Given the description of an element on the screen output the (x, y) to click on. 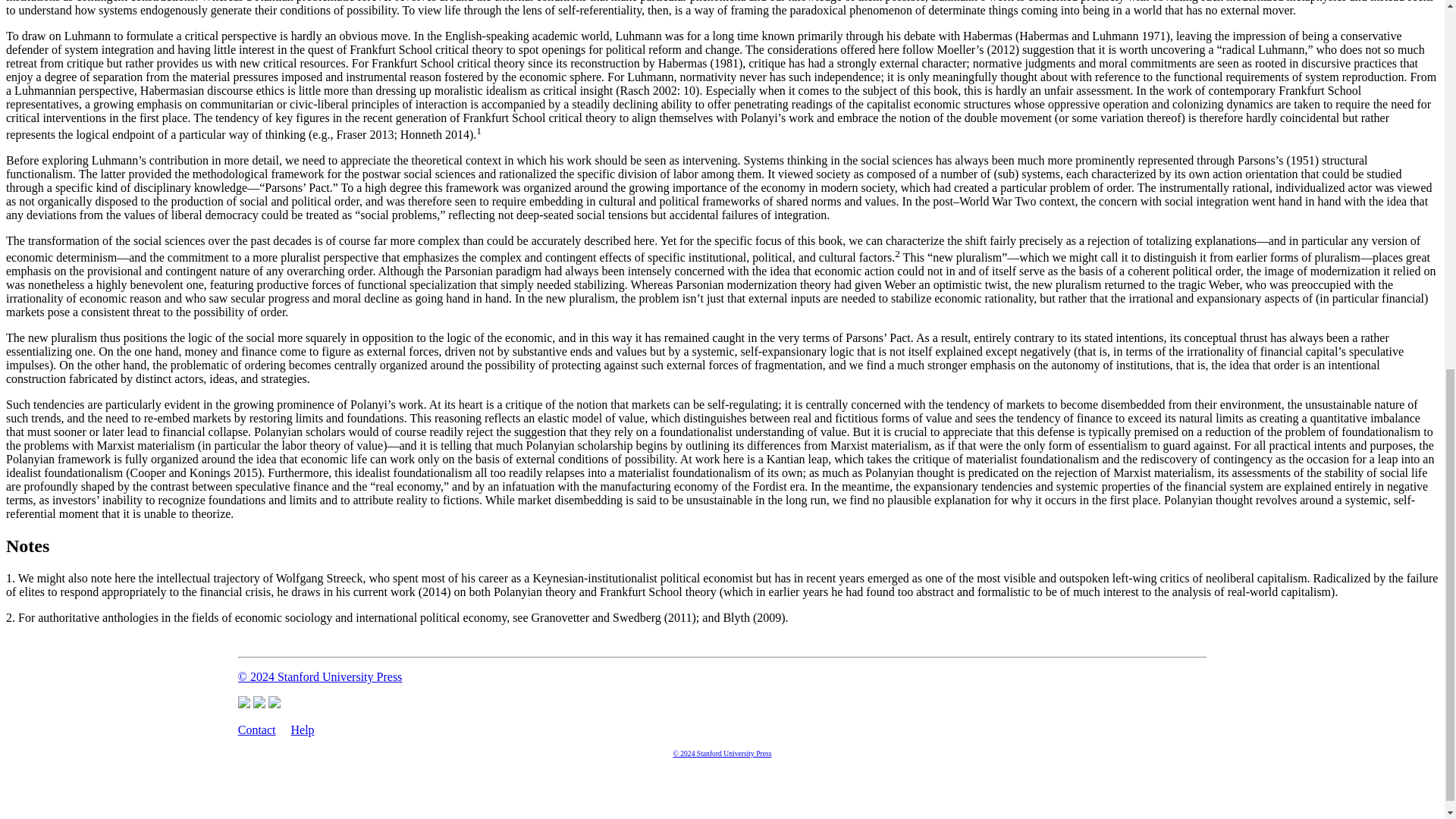
Help (302, 729)
Read the latest on the 'SUP Blog. (274, 703)
Subscribe to our Instagram feed! (258, 703)
Join the conversation on X. (244, 703)
Contact (257, 729)
